Given the description of an element on the screen output the (x, y) to click on. 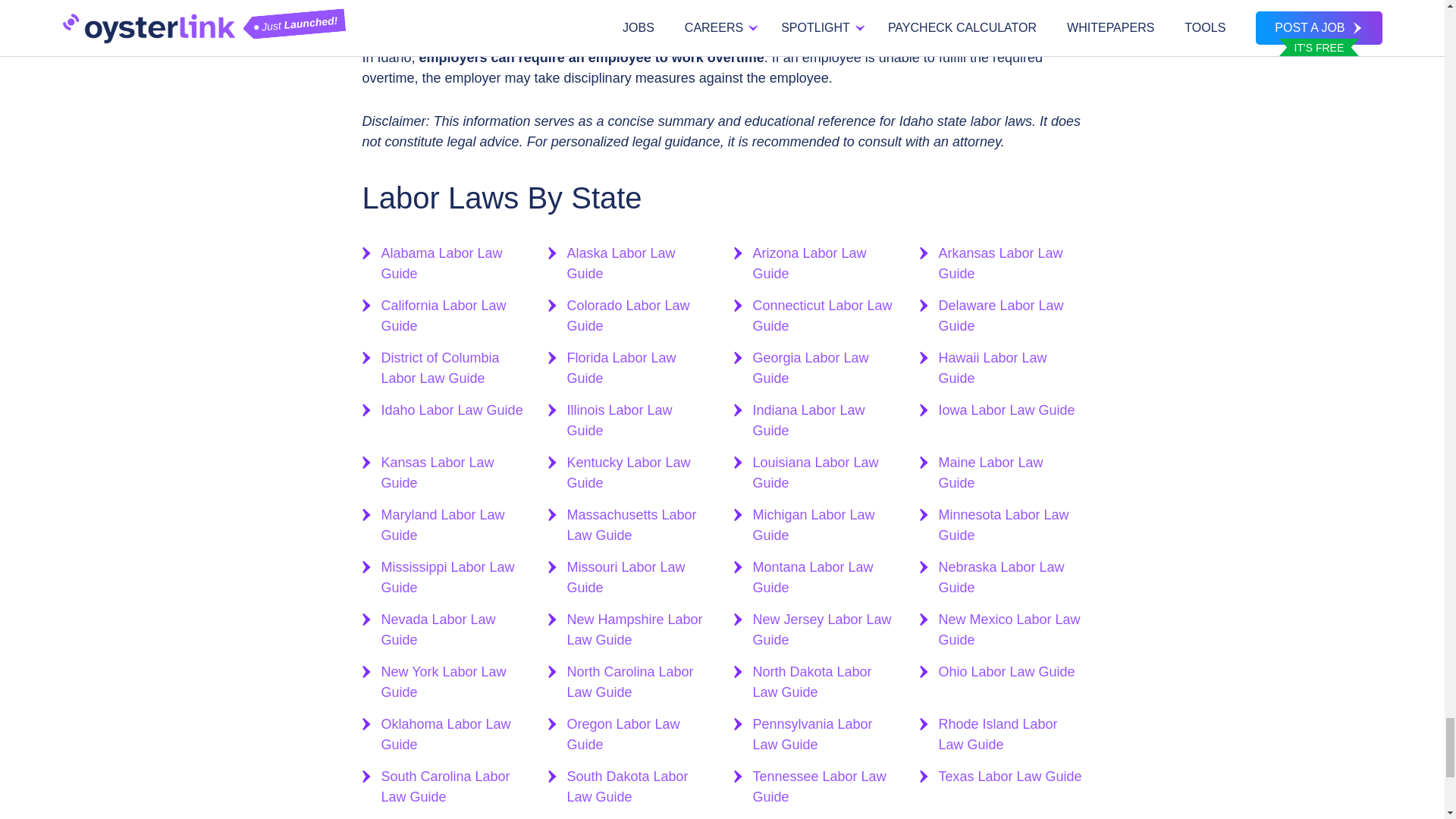
Alaska Labor Law Guide (639, 263)
California Labor Law Guide (452, 315)
Arizona Labor Law Guide (824, 263)
Colorado Labor Law Guide (639, 315)
Florida Labor Law Guide (639, 368)
Delaware Labor Law Guide (1011, 315)
Connecticut Labor Law Guide (824, 315)
District of Columbia Labor Law Guide (452, 368)
Alabama Labor Law Guide (452, 263)
Arkansas Labor Law Guide (1011, 263)
